Given the description of an element on the screen output the (x, y) to click on. 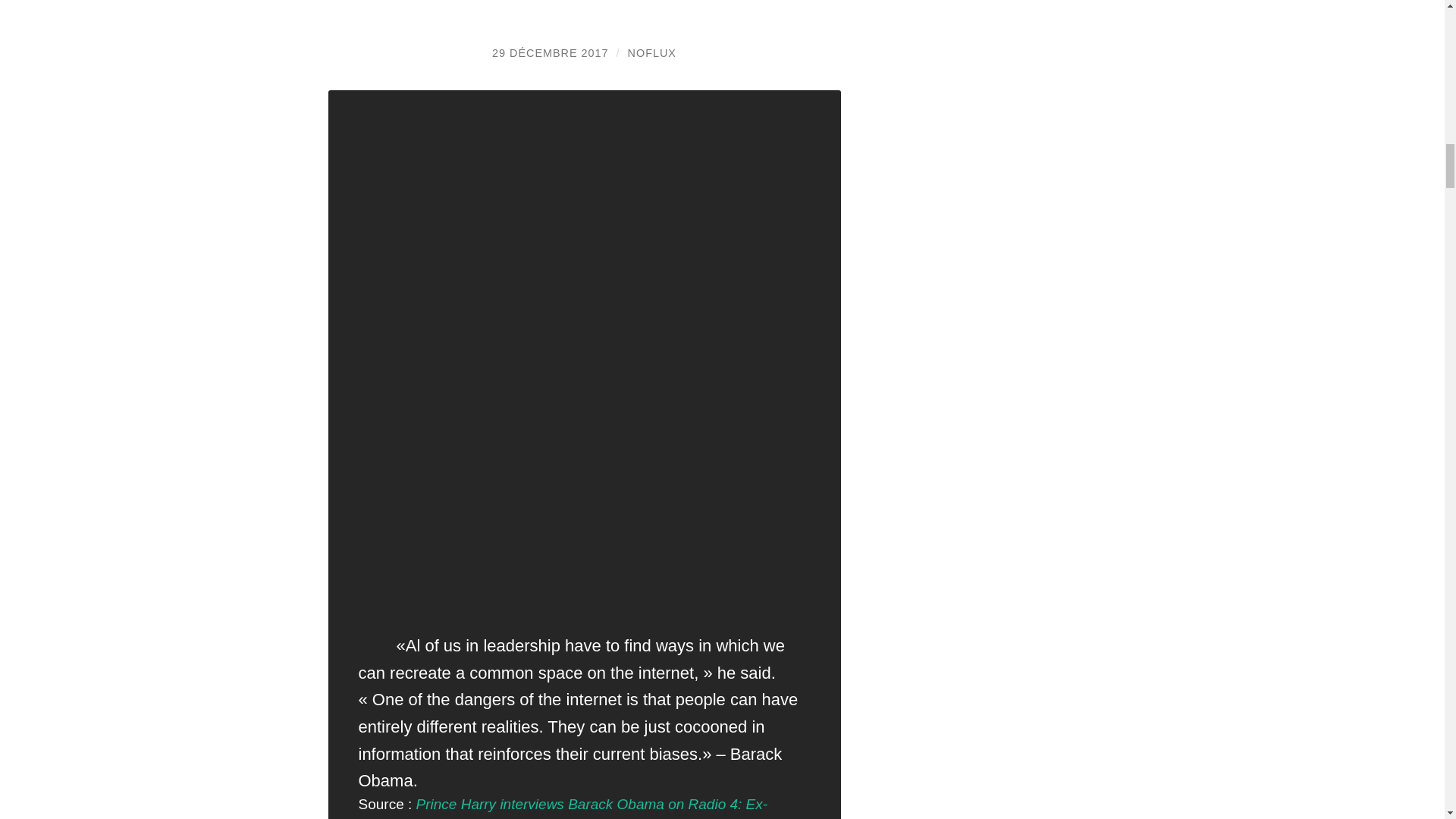
NOFLUX (652, 52)
Articles par noflux (652, 52)
